Given the description of an element on the screen output the (x, y) to click on. 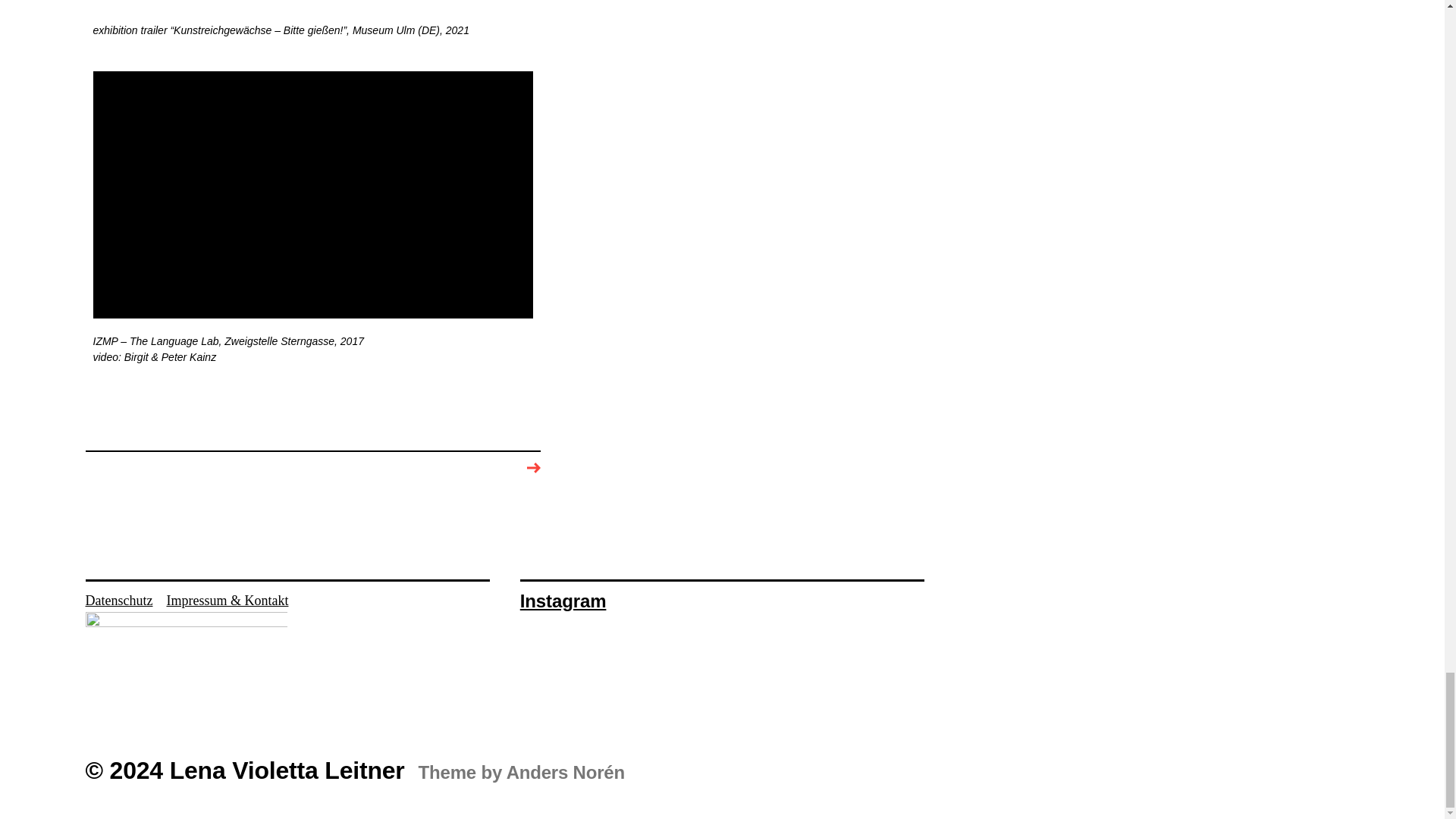
Datenschutz (118, 600)
Instagram (563, 600)
vimeo Video Player (312, 194)
